Given the description of an element on the screen output the (x, y) to click on. 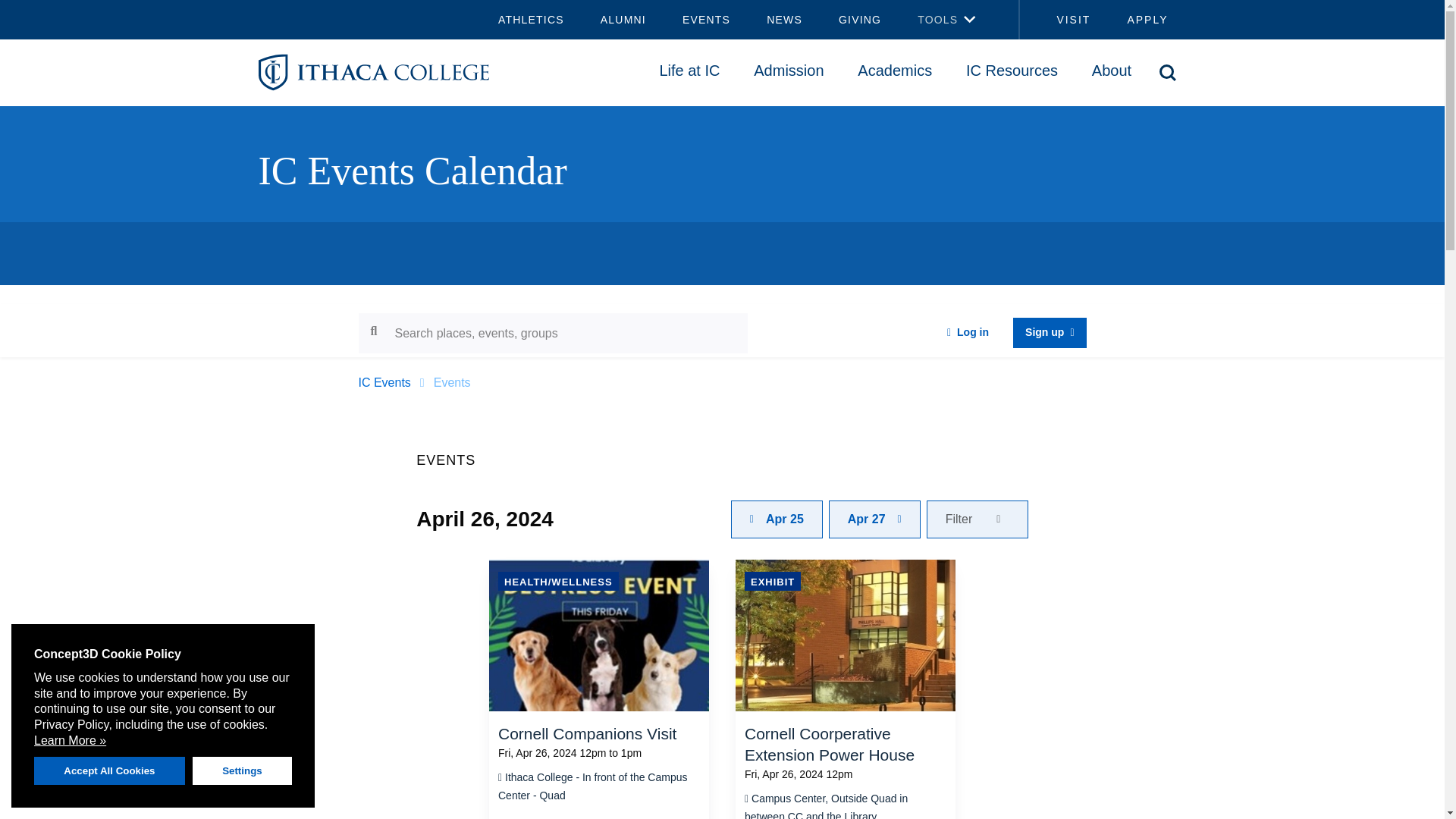
About (1111, 70)
Academics (895, 70)
IC Resources (1012, 70)
Log in (967, 332)
VISIT (1064, 19)
Apr 27 (874, 519)
Life at IC (689, 70)
EVENTS (705, 19)
Apr 25 (776, 519)
TOOLS (928, 19)
IC Events (384, 382)
ATHLETICS (531, 19)
NEWS (784, 19)
Sign up (1049, 332)
